Given the description of an element on the screen output the (x, y) to click on. 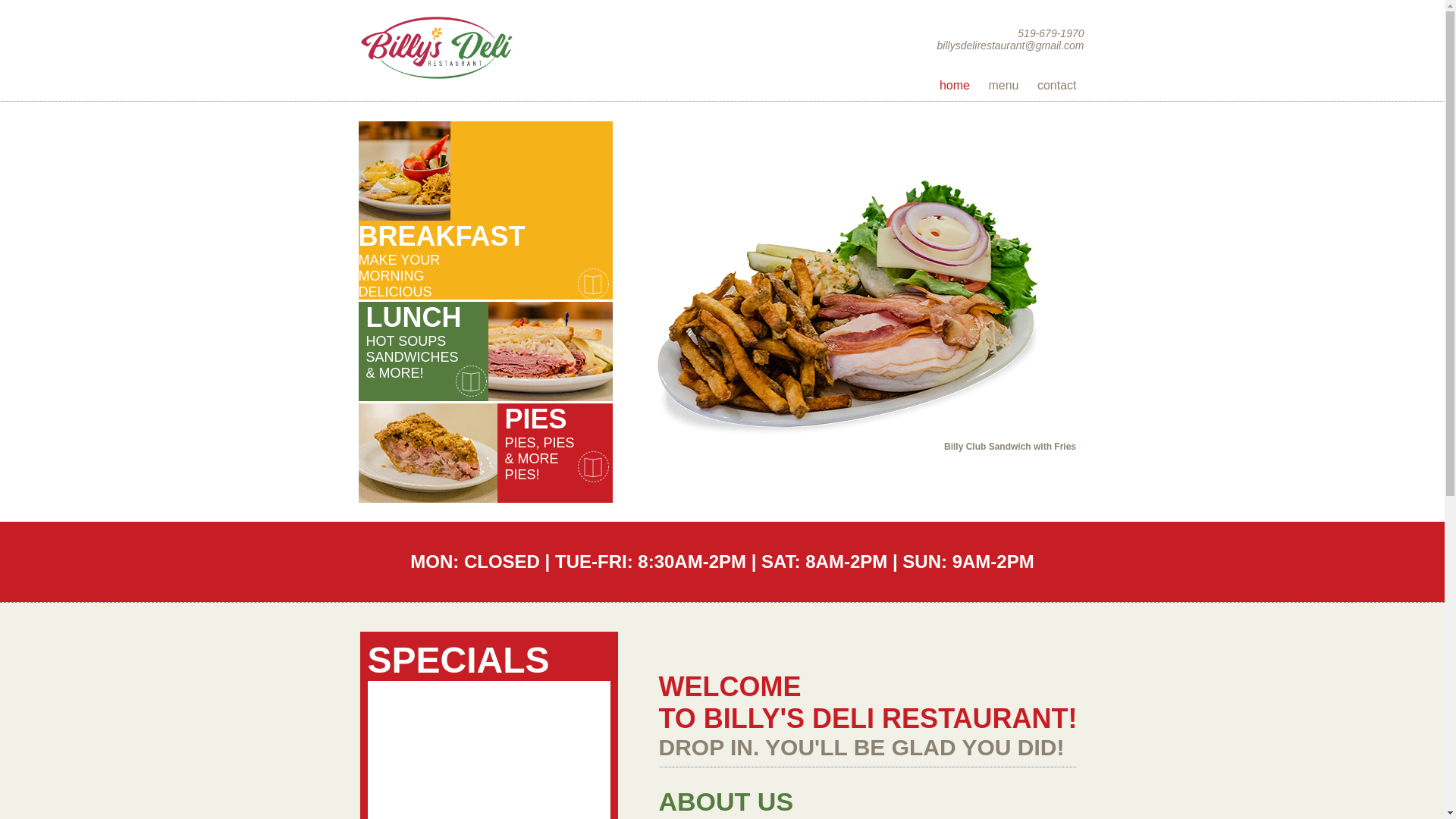
contact Element type: text (1056, 85)
billysdelirestaurant@gmail.com Element type: text (1010, 45)
BREAKFAST
MAKE YOUR
MORNING

DELICIOUS Element type: text (484, 170)
home Element type: text (954, 85)
PIES
PIES, PIES
& MORE

PIES! Element type: text (484, 452)
LUNCH
HOT SOUPS
SANDWICHES

& MORE! Element type: text (488, 350)
menu Element type: text (1003, 85)
